Given the description of an element on the screen output the (x, y) to click on. 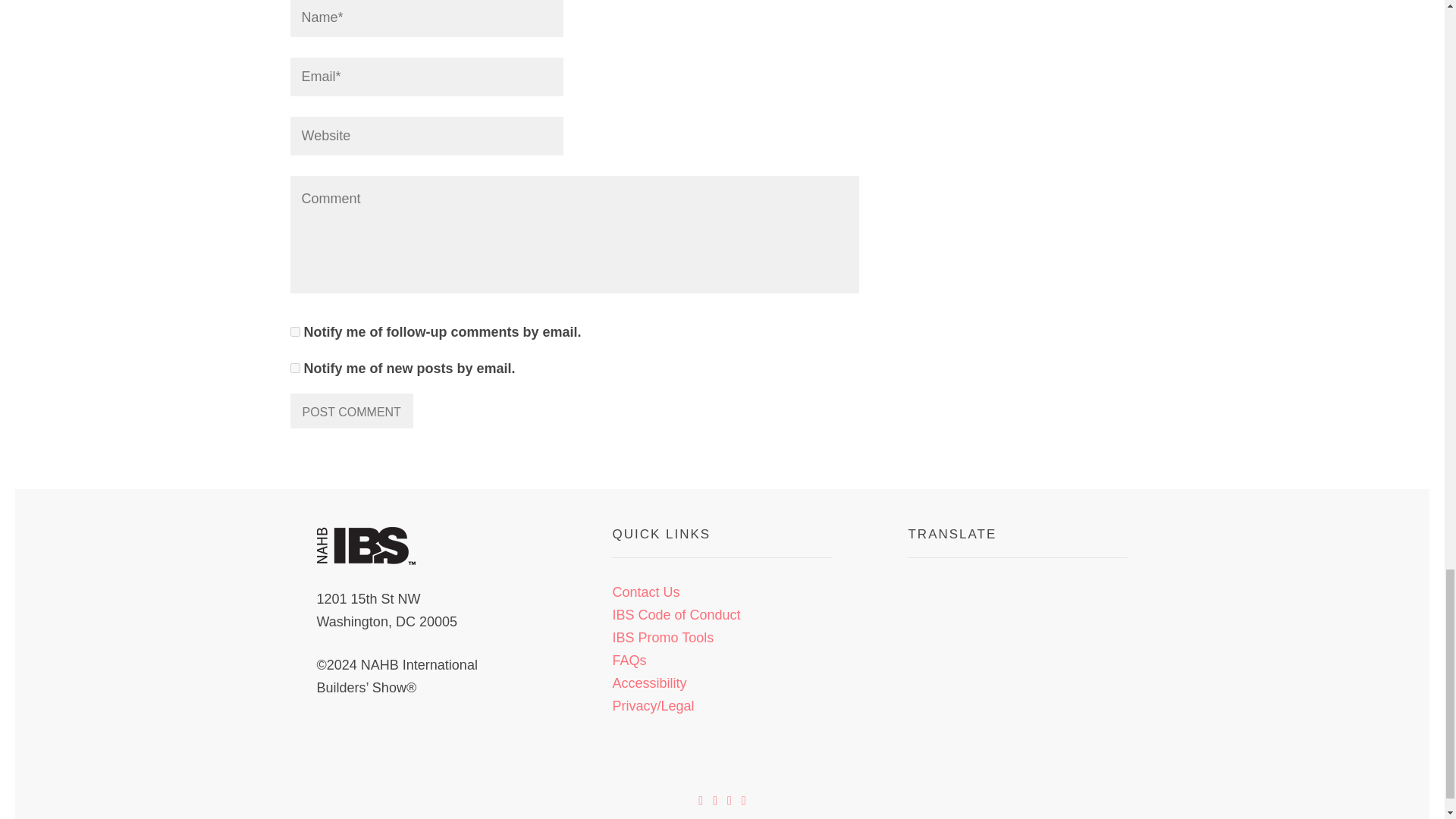
Accessibility (648, 683)
Contact Us (645, 591)
FAQs (628, 660)
subscribe (294, 331)
POST COMMENT (350, 410)
IBS Code of Conduct (675, 614)
POST COMMENT (350, 410)
IBS Promo Tools (662, 637)
subscribe (294, 368)
